Given the description of an element on the screen output the (x, y) to click on. 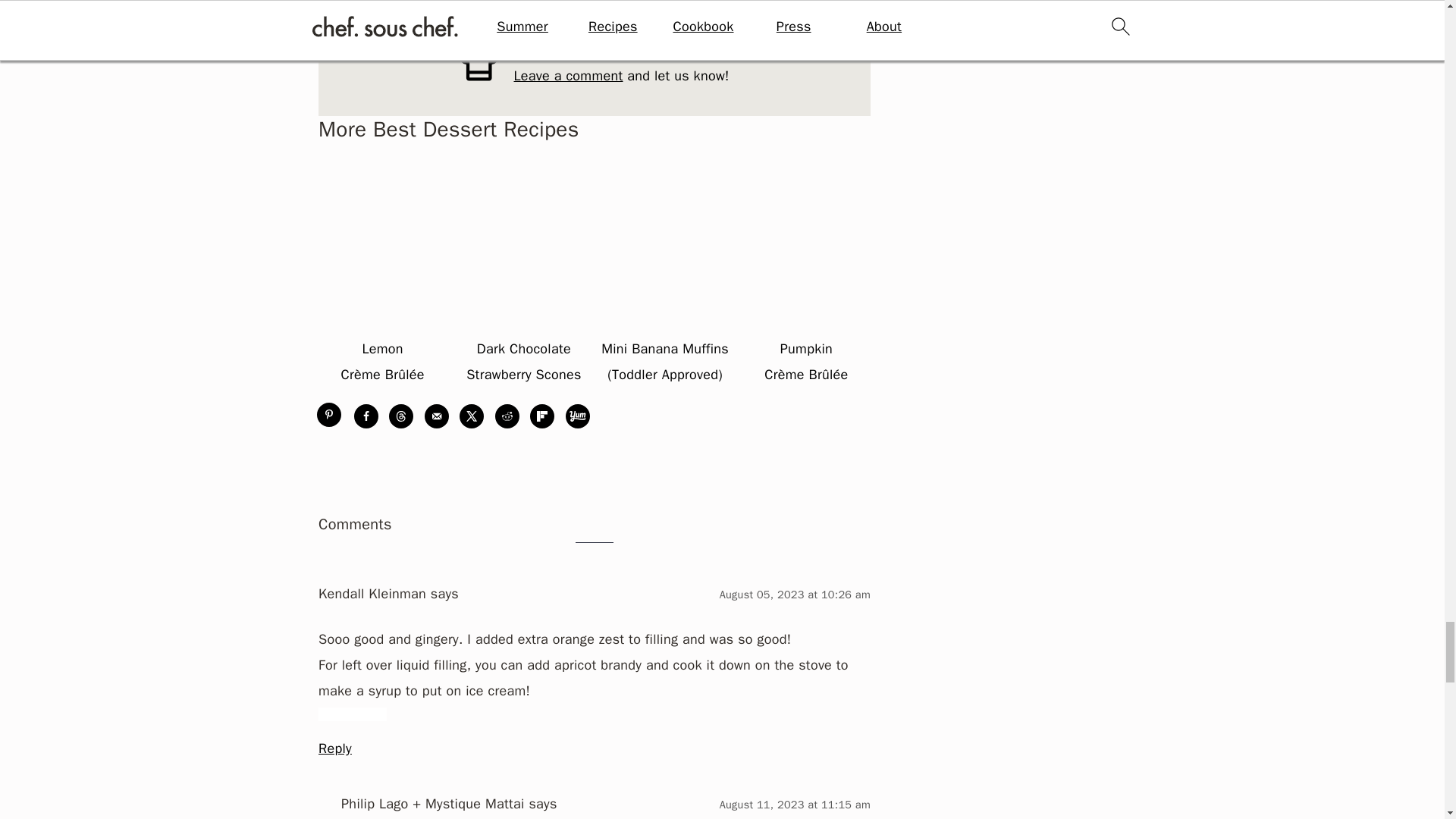
Send over email (436, 416)
Share on X (471, 416)
Share on Reddit (507, 416)
Save to Pinterest (330, 416)
Share on Facebook (365, 416)
Share on Flipboard (541, 416)
Share on Threads (400, 416)
